Given the description of an element on the screen output the (x, y) to click on. 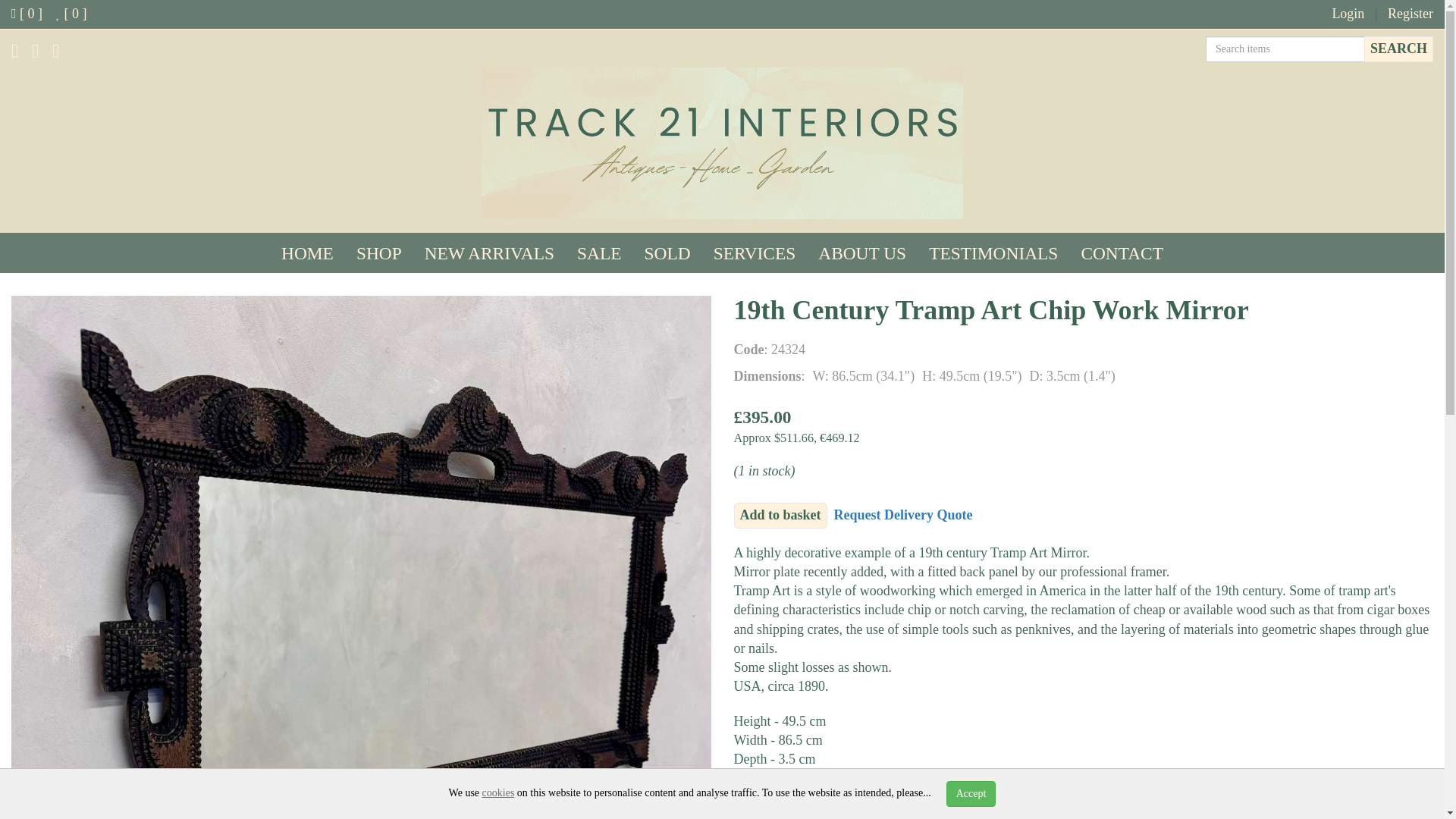
Request Delivery Quote (903, 514)
SALE (598, 252)
Add to basket (780, 515)
SEARCH (1398, 49)
TESTIMONIALS (992, 252)
ABOUT US (861, 252)
Login (1348, 13)
Track 21 Interiors (721, 143)
Register (1409, 13)
SERVICES (754, 252)
HOME (307, 252)
SOLD (667, 252)
CONTACT (1121, 252)
SHOP (379, 252)
NEW ARRIVALS (489, 252)
